Given the description of an element on the screen output the (x, y) to click on. 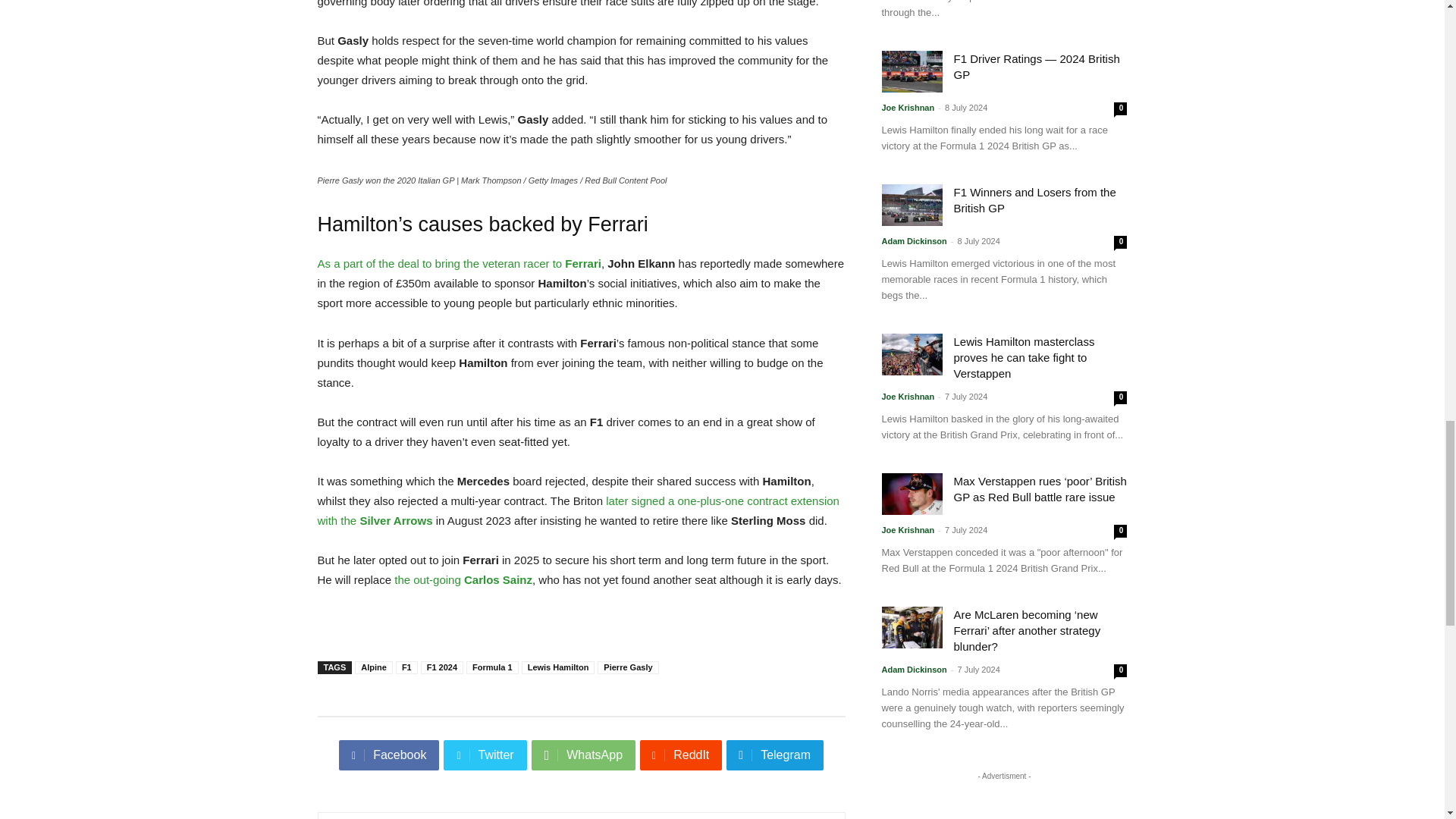
Facebook (389, 755)
Telegram (775, 755)
ReddIt (681, 755)
Twitter (484, 755)
WhatsApp (582, 755)
